Given the description of an element on the screen output the (x, y) to click on. 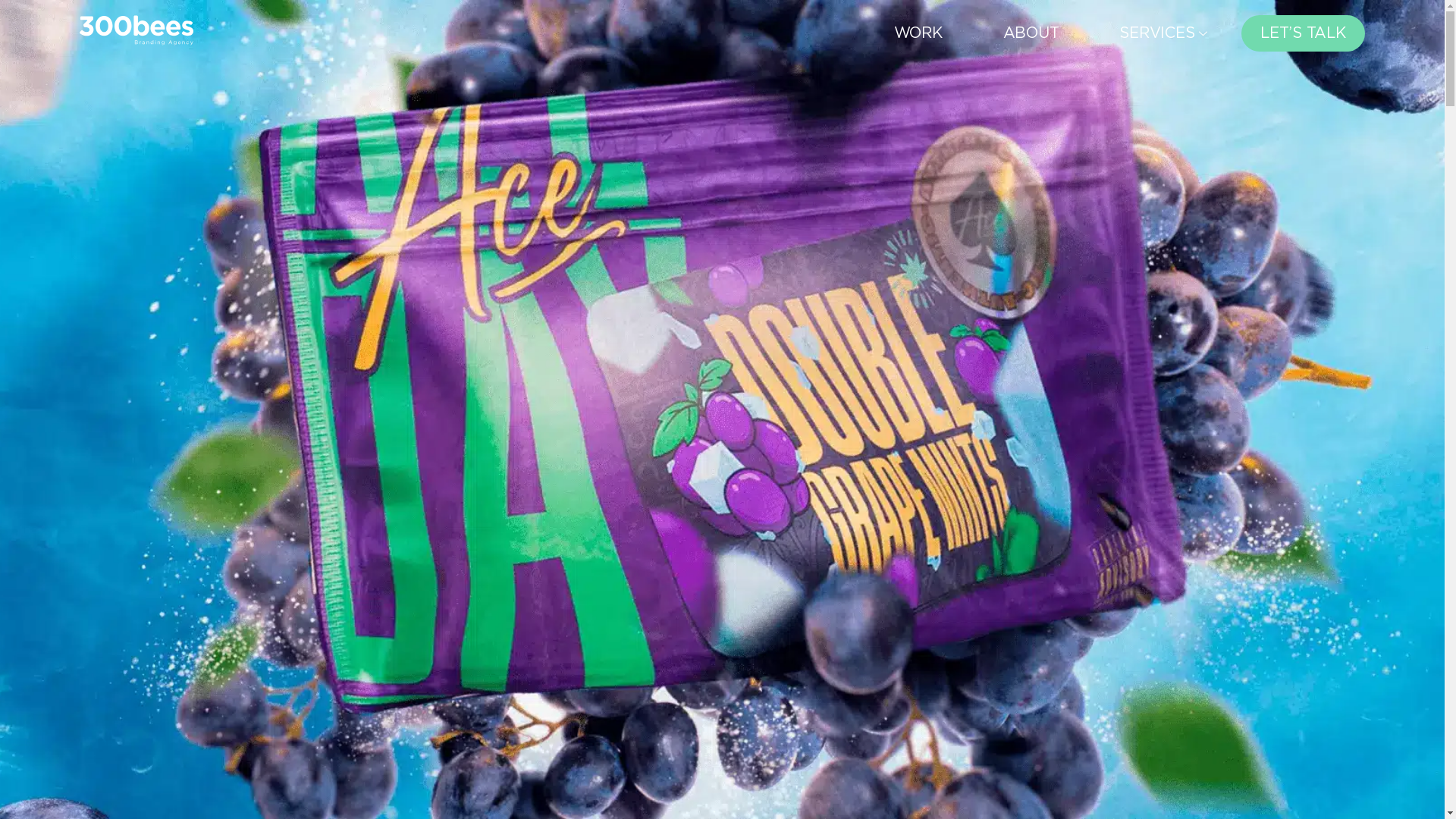
SERVICES Element type: text (1164, 33)
wpforms-submit Element type: text (722, 580)
WORK Element type: text (917, 33)
ABOUT Element type: text (1030, 33)
